Given the description of an element on the screen output the (x, y) to click on. 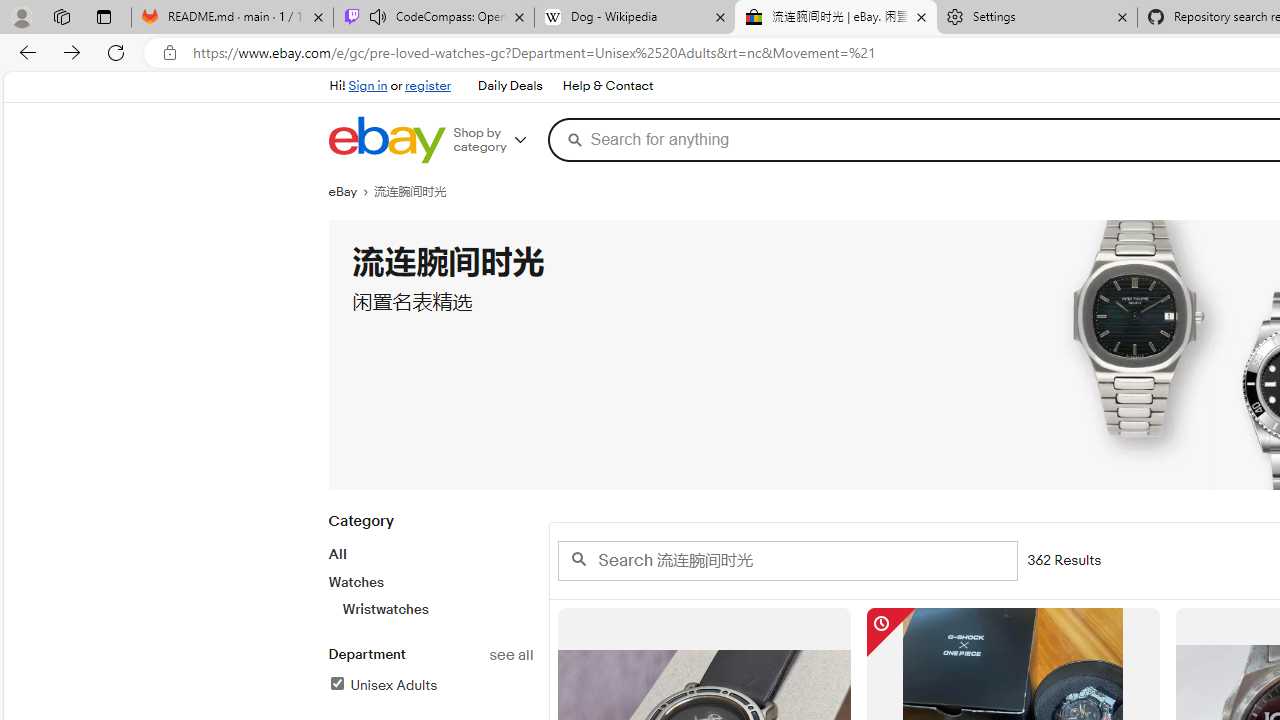
See all department refinements (510, 655)
All (336, 554)
